Given the description of an element on the screen output the (x, y) to click on. 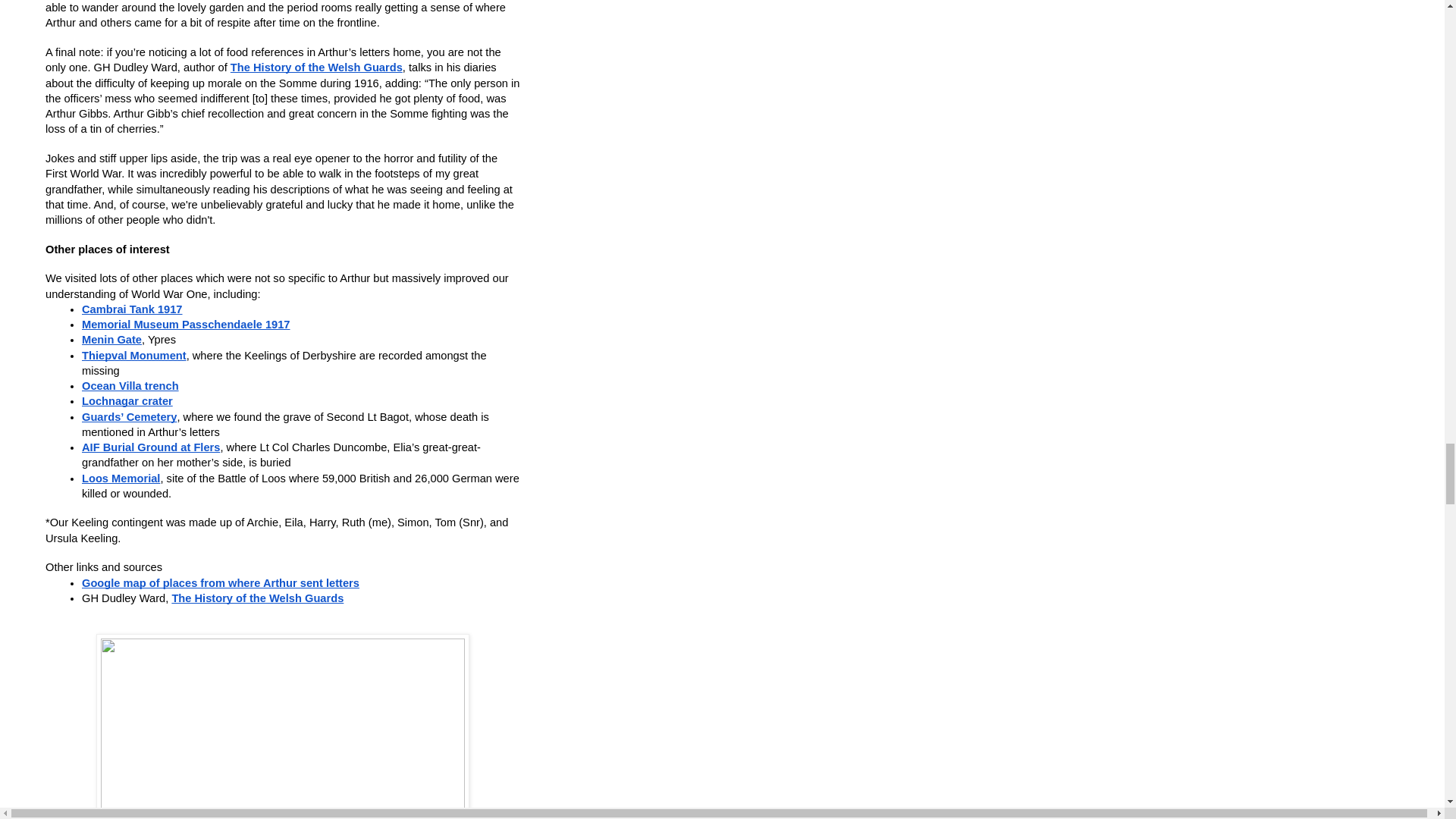
Cambrai Tank 1917 (132, 309)
The History of the Welsh Guards (316, 67)
